Given the description of an element on the screen output the (x, y) to click on. 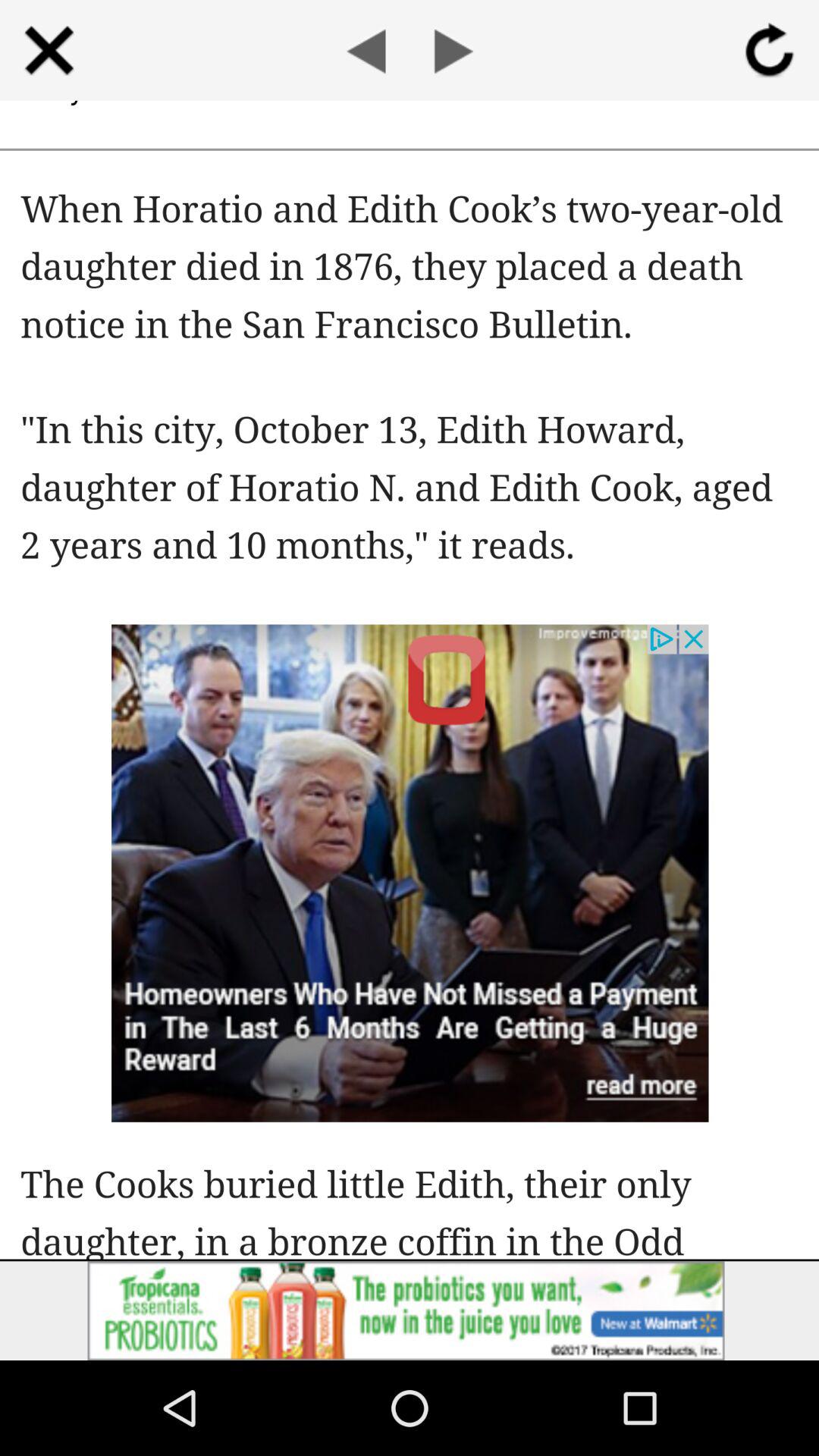
exit (48, 50)
